Given the description of an element on the screen output the (x, y) to click on. 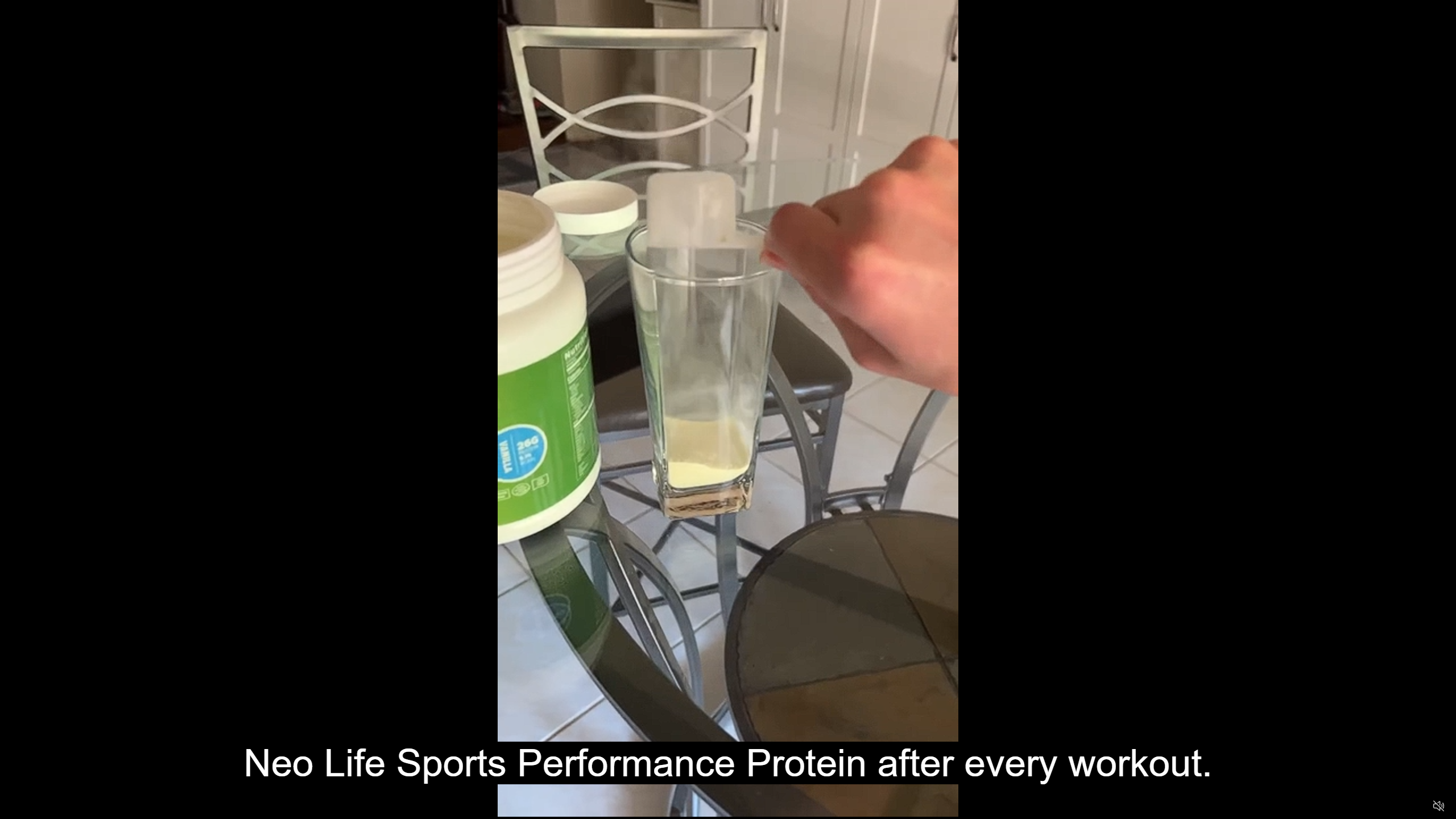
Seek Back (39, 806)
Pause (17, 806)
Unmute (1438, 805)
Seek Forward (62, 806)
Non-Fullscreen (1417, 806)
Captions (1394, 806)
Progress Bar (727, 791)
Quality Settings (1371, 806)
